Given the description of an element on the screen output the (x, y) to click on. 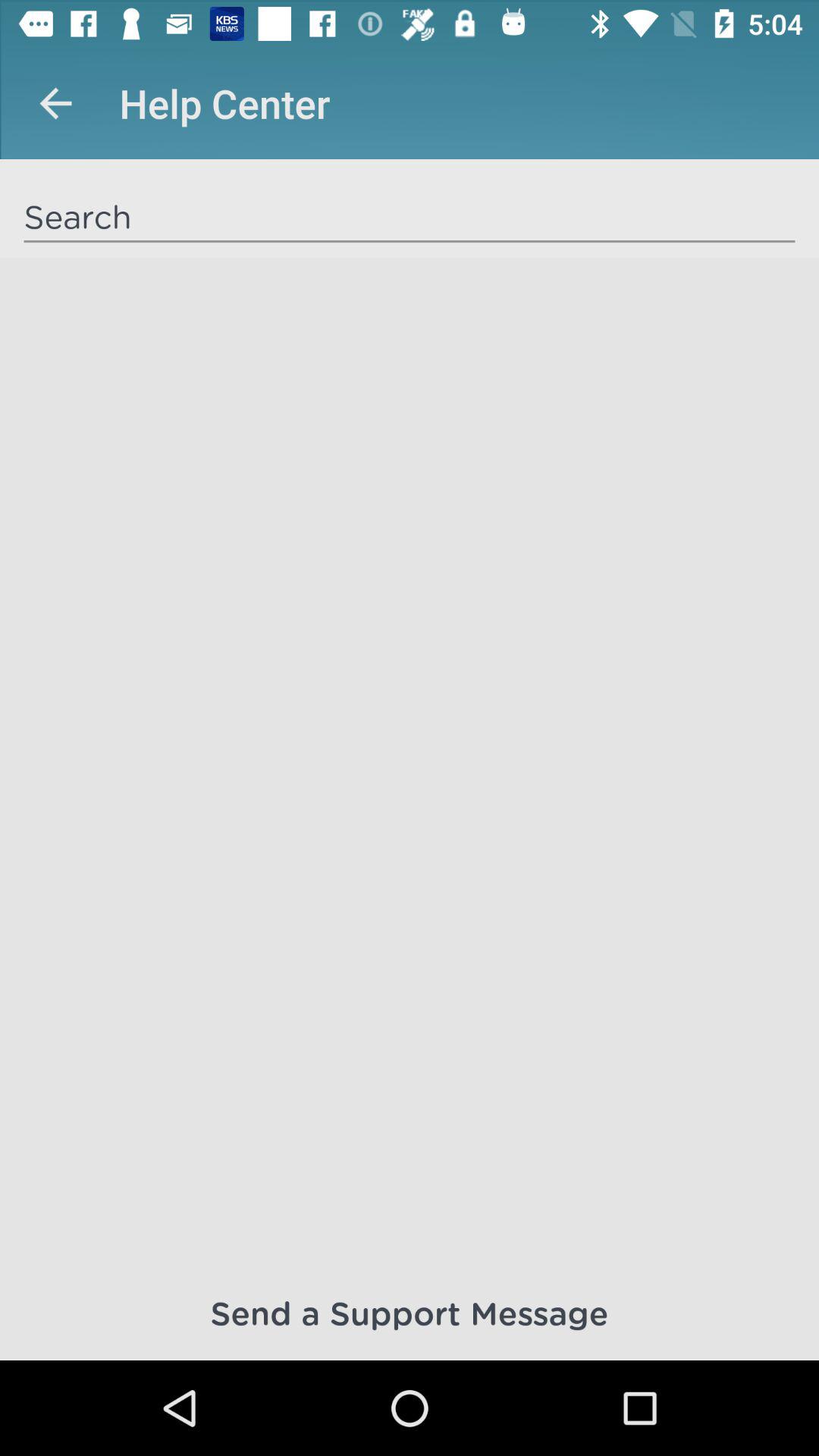
open app to the left of help center icon (55, 103)
